Given the description of an element on the screen output the (x, y) to click on. 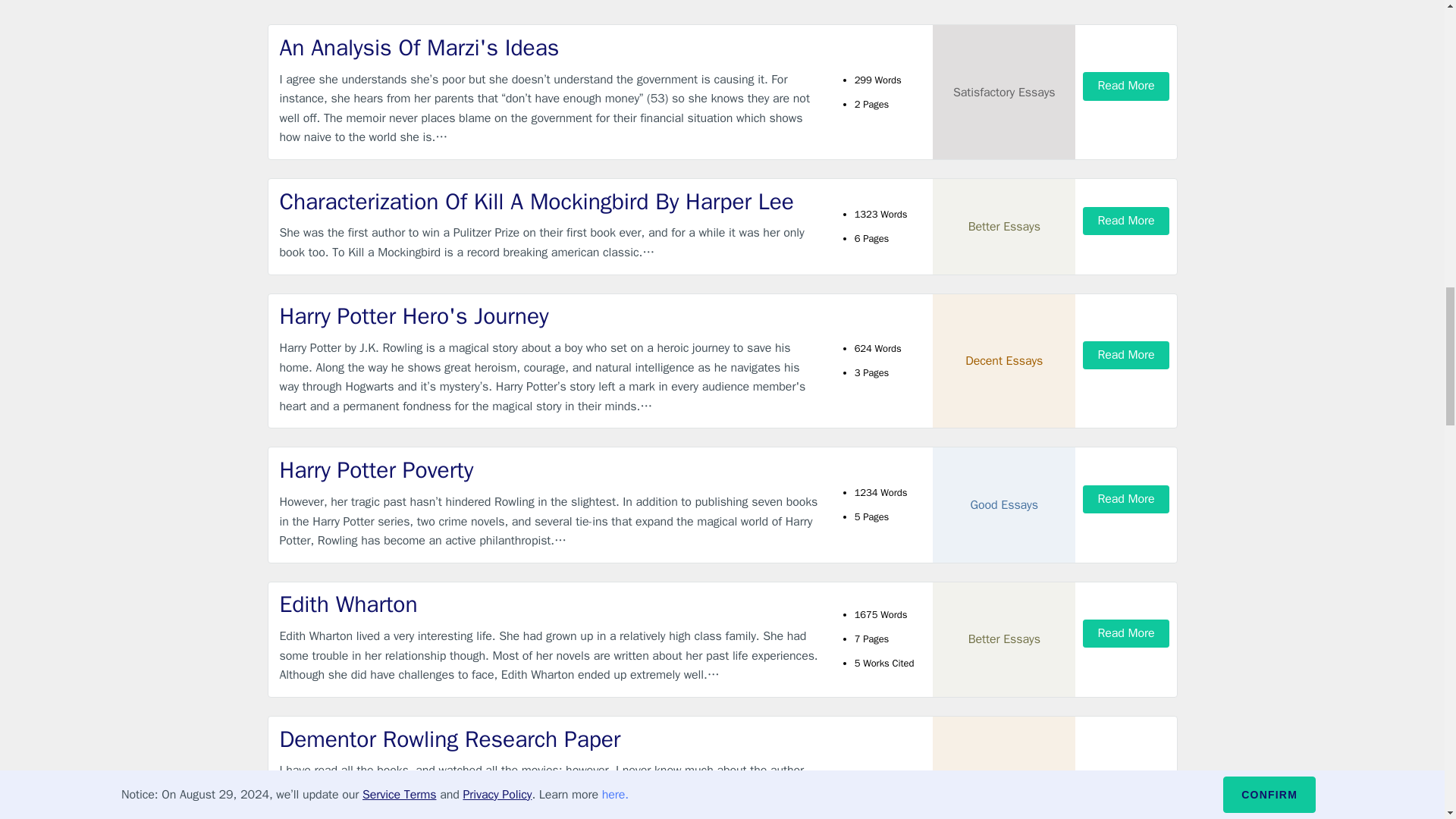
Read More (1126, 221)
Edith Wharton (548, 603)
Harry Potter Hero's Journey (548, 316)
Read More (1126, 806)
Characterization Of Kill A Mockingbird By Harper Lee (548, 201)
Read More (1126, 355)
Read More (1126, 633)
An Analysis Of Marzi's Ideas (548, 47)
Read More (1126, 85)
Dementor Rowling Research Paper (548, 739)
